Given the description of an element on the screen output the (x, y) to click on. 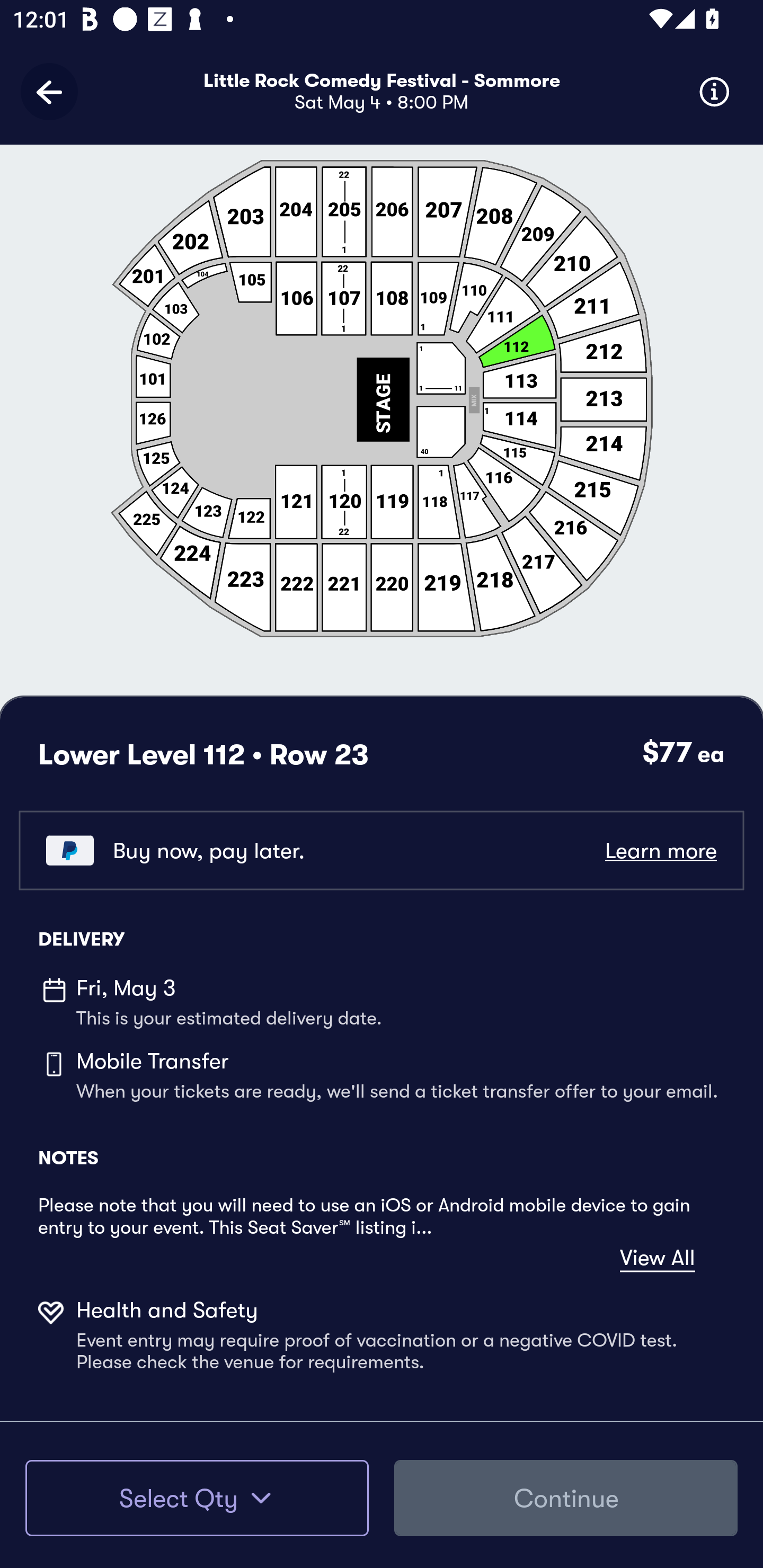
Learn more (660, 850)
View All (657, 1257)
Select Qty (196, 1497)
Continue (565, 1497)
